Given the description of an element on the screen output the (x, y) to click on. 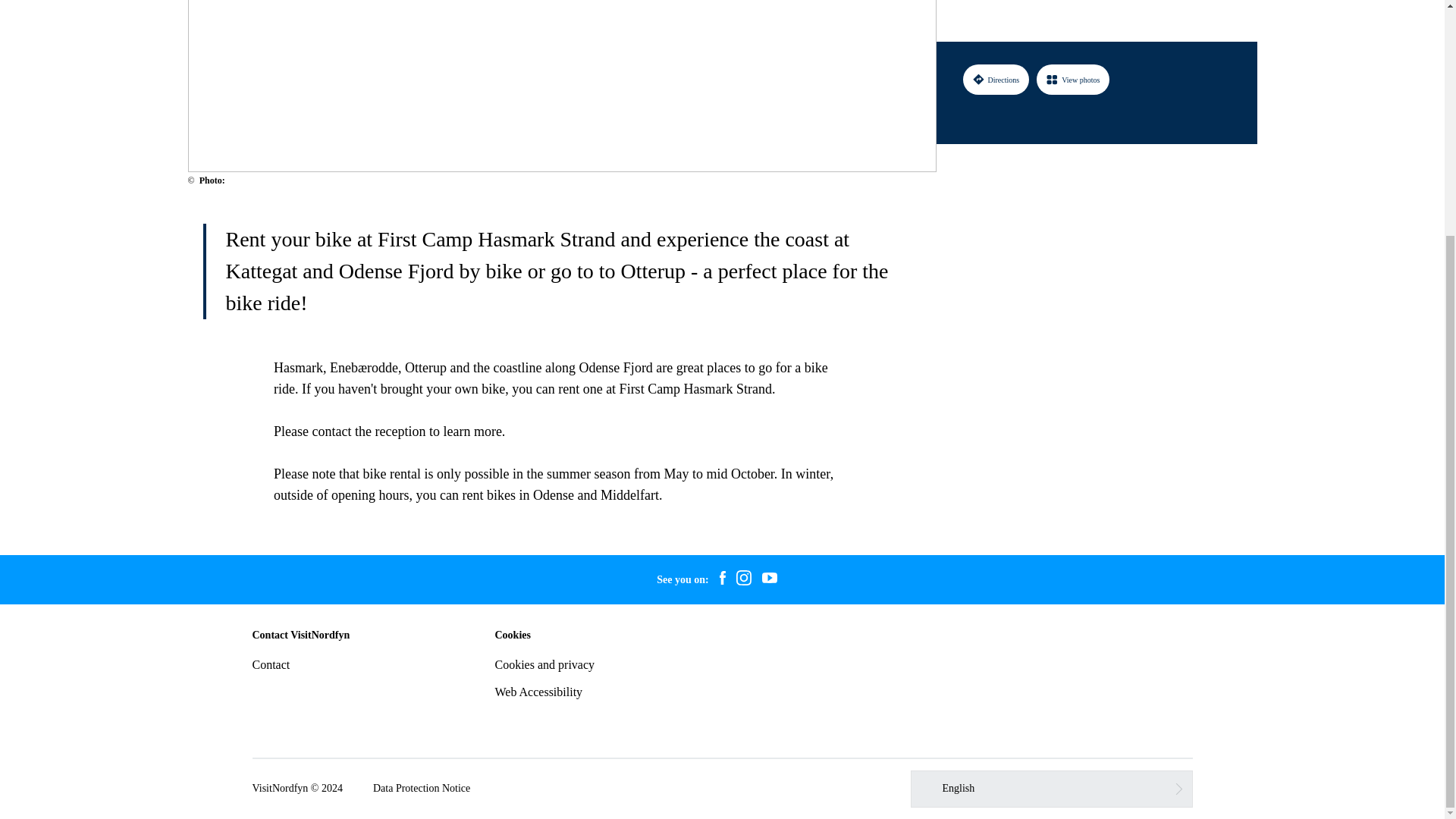
Contact (270, 664)
Cookies and privacy (544, 664)
youtube (770, 579)
Data Protection Notice (421, 788)
Contact (270, 664)
Web Accessibility (538, 691)
Cookies and privacy (544, 664)
Data Protection Notice (421, 788)
Web Accessibility (538, 691)
instagram (743, 579)
facebook (722, 579)
